Given the description of an element on the screen output the (x, y) to click on. 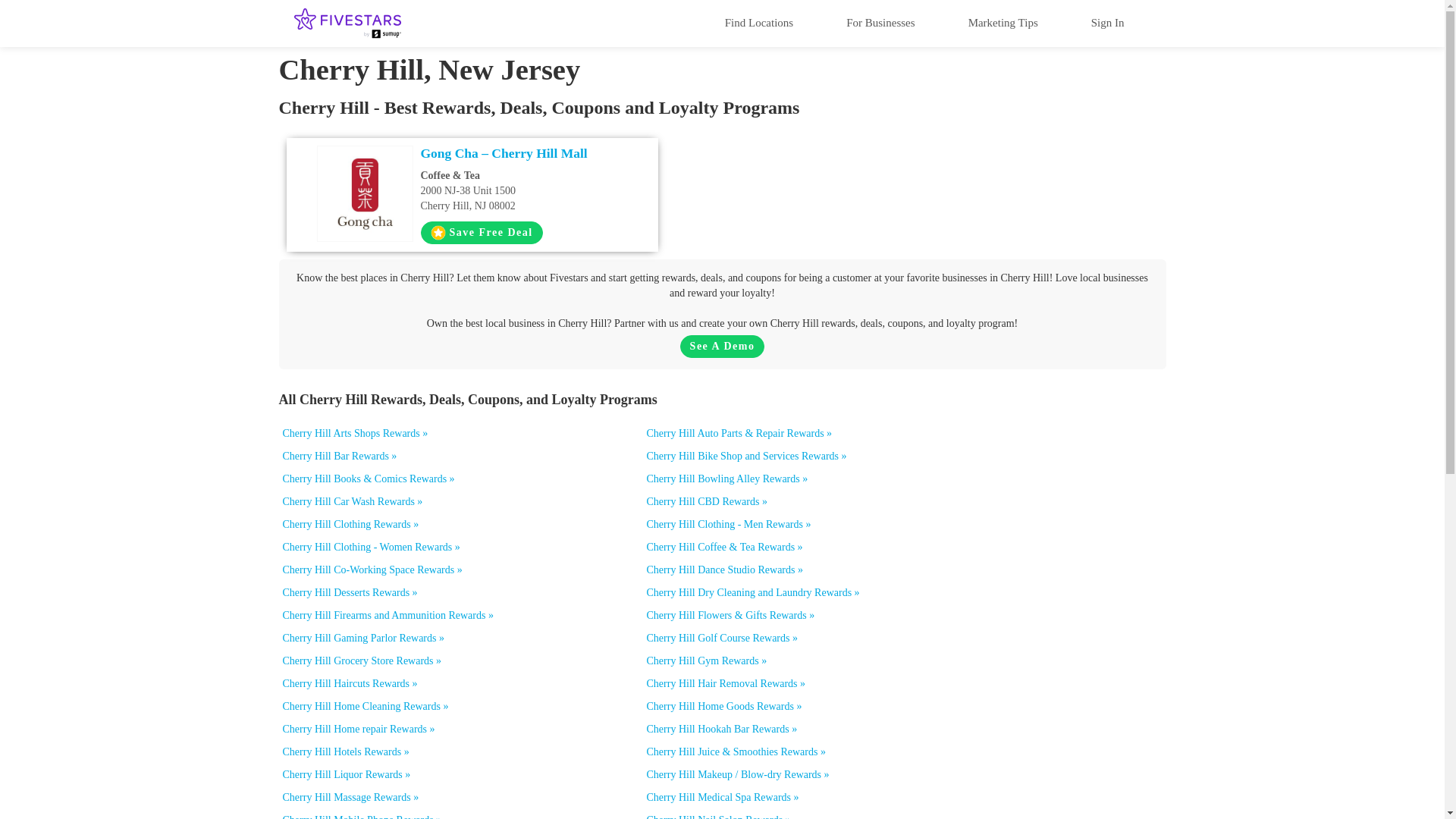
Marketing Tips (1002, 22)
For Businesses (880, 22)
Marketing Tips and Blog (1002, 22)
Save Free Deal (480, 232)
Find Locations (759, 22)
See A Demo (722, 345)
Sign In (1107, 22)
See a Demo and Learn More About Fivestars (722, 345)
